Given the description of an element on the screen output the (x, y) to click on. 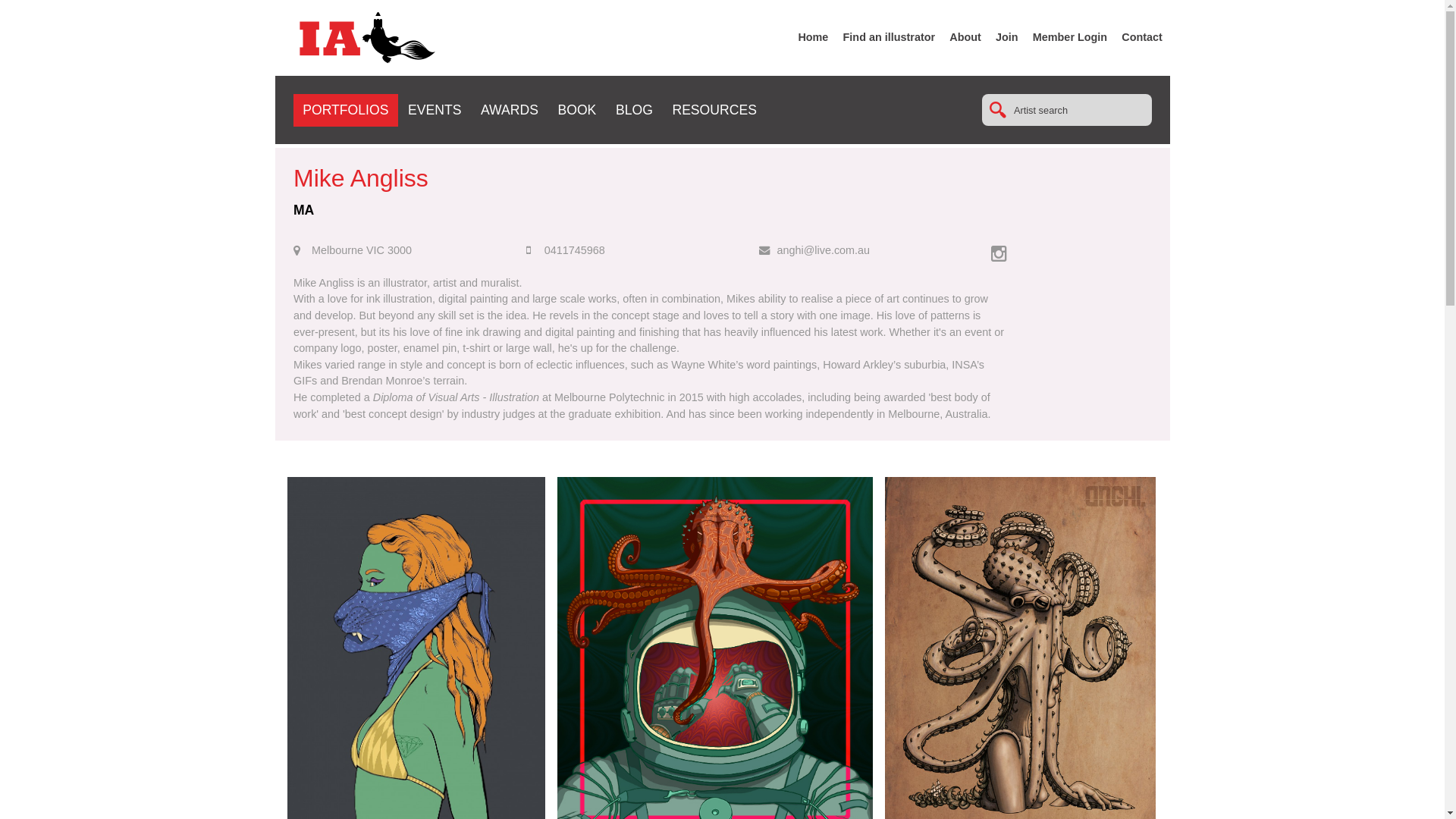
Join Element type: text (1006, 37)
PORTFOLIOS Element type: text (345, 109)
RESOURCES Element type: text (713, 109)
Member Login Element type: text (1069, 37)
anghi@live.com.au Element type: text (822, 250)
EVENTS Element type: text (434, 109)
BOOK Element type: text (577, 109)
Contact Element type: text (1141, 37)
BLOG Element type: text (633, 109)
instagram Element type: hover (1015, 251)
Find an illustrator Element type: text (889, 37)
AWARDS Element type: text (509, 109)
About Element type: text (965, 37)
Home Element type: text (812, 37)
